Given the description of an element on the screen output the (x, y) to click on. 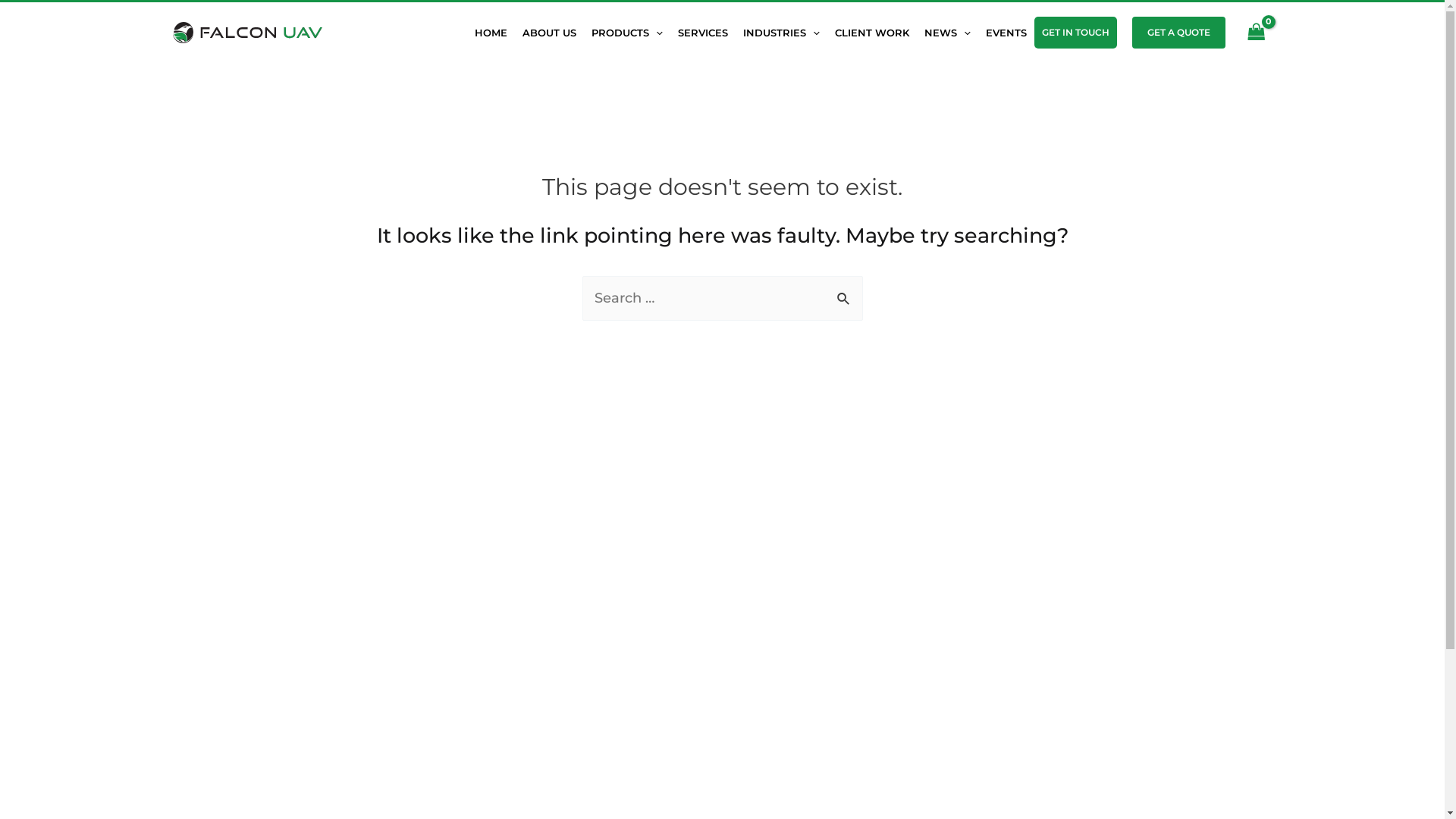
NEWS Element type: text (947, 32)
GET IN TOUCH Element type: text (1075, 32)
ABOUT US Element type: text (548, 32)
INDUSTRIES Element type: text (781, 32)
GET A QUOTE Element type: text (1178, 32)
CLIENT WORK Element type: text (871, 32)
PRODUCTS Element type: text (626, 32)
EVENTS Element type: text (1006, 32)
HOME Element type: text (490, 32)
SERVICES Element type: text (702, 32)
Search Element type: text (845, 292)
